Given the description of an element on the screen output the (x, y) to click on. 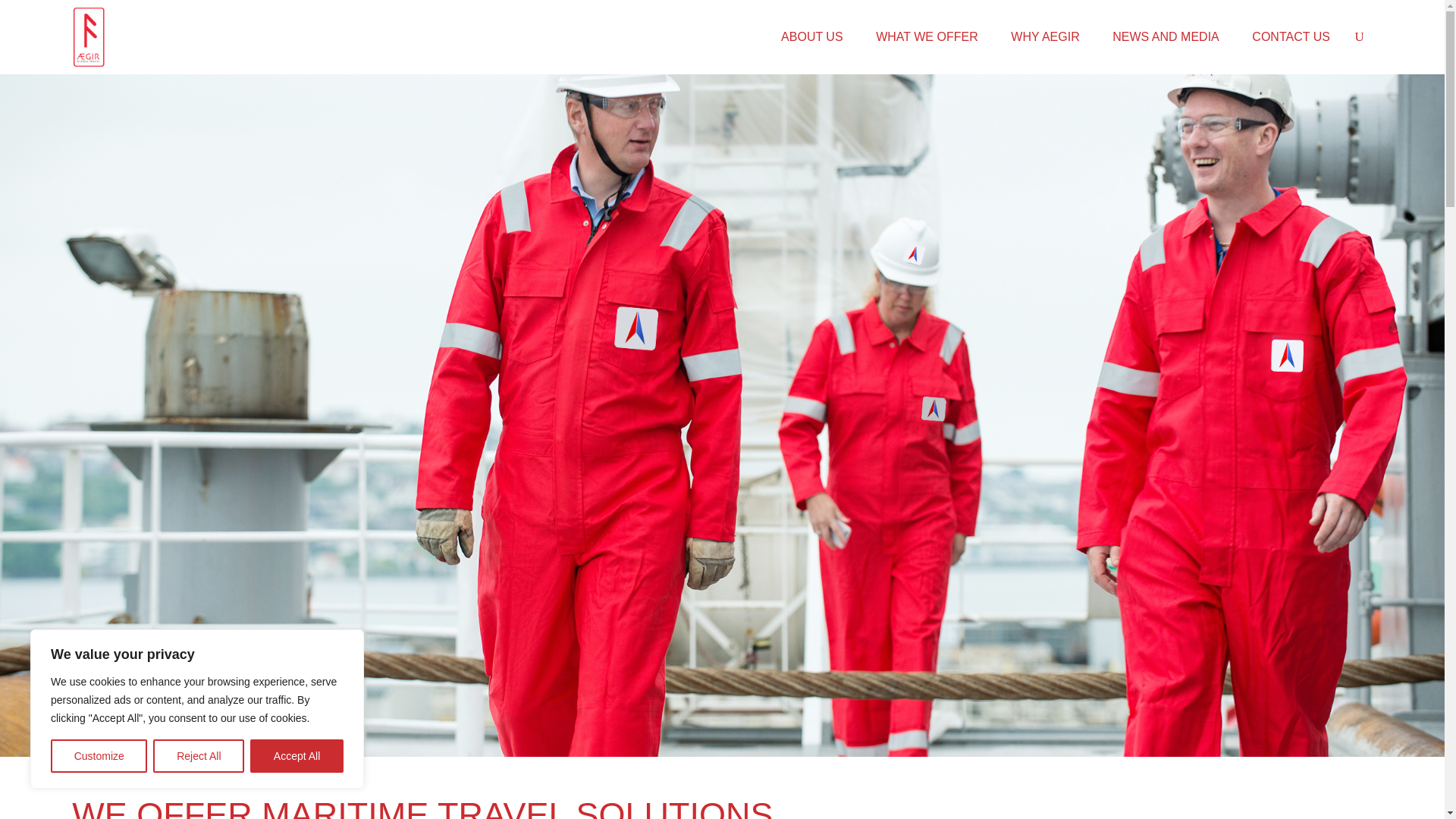
Customize (98, 756)
Reject All (198, 756)
CONTACT US (1291, 36)
NEWS AND MEDIA (1165, 36)
WHAT WE OFFER (927, 35)
WHY AEGIR (1044, 36)
ABOUT US (811, 36)
Accept All (296, 756)
